Given the description of an element on the screen output the (x, y) to click on. 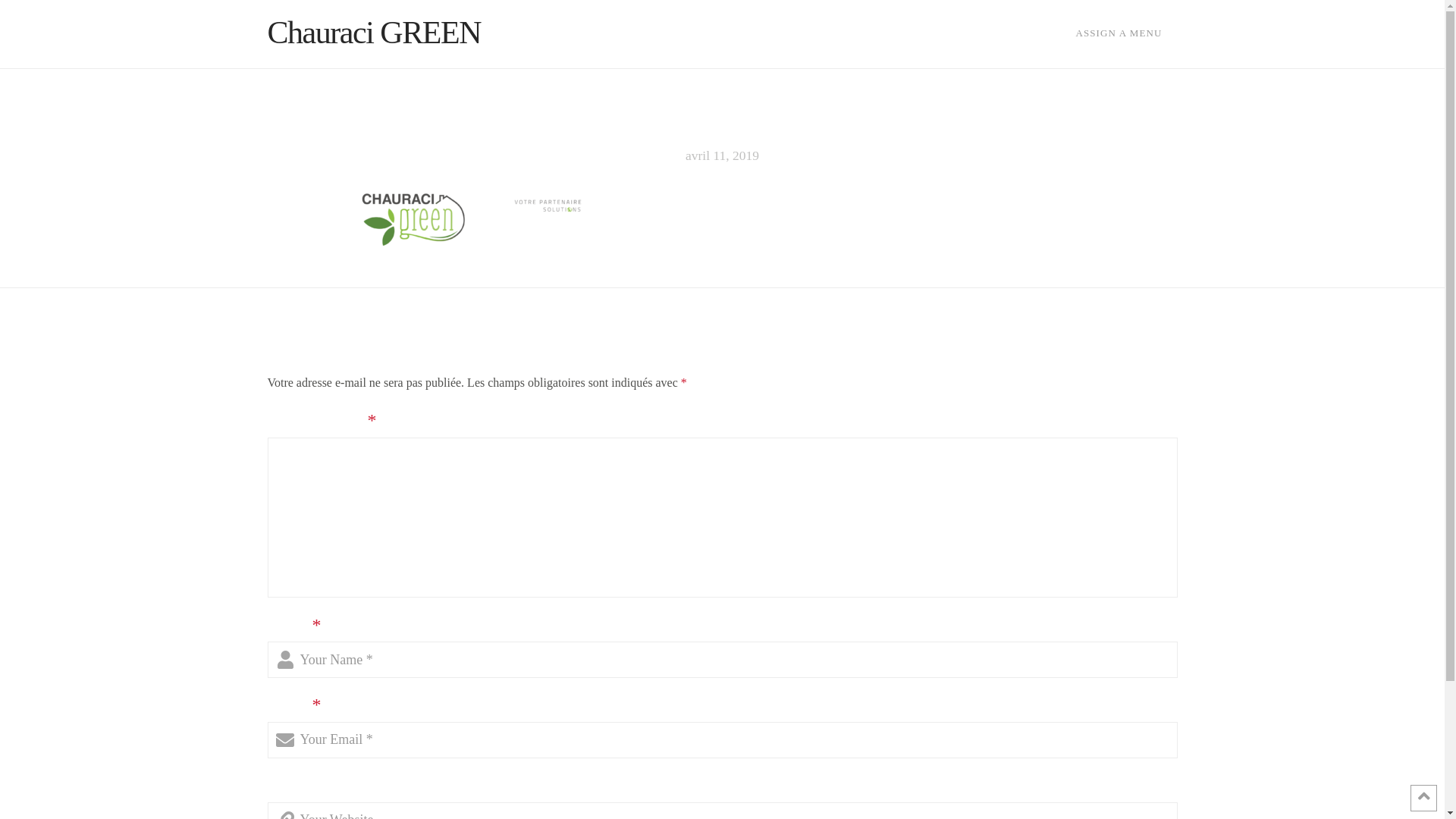
Chauraci GREEN Element type: text (373, 32)
Back to Top Element type: hover (1423, 797)
ASSIGN A MENU Element type: text (1118, 34)
